Given the description of an element on the screen output the (x, y) to click on. 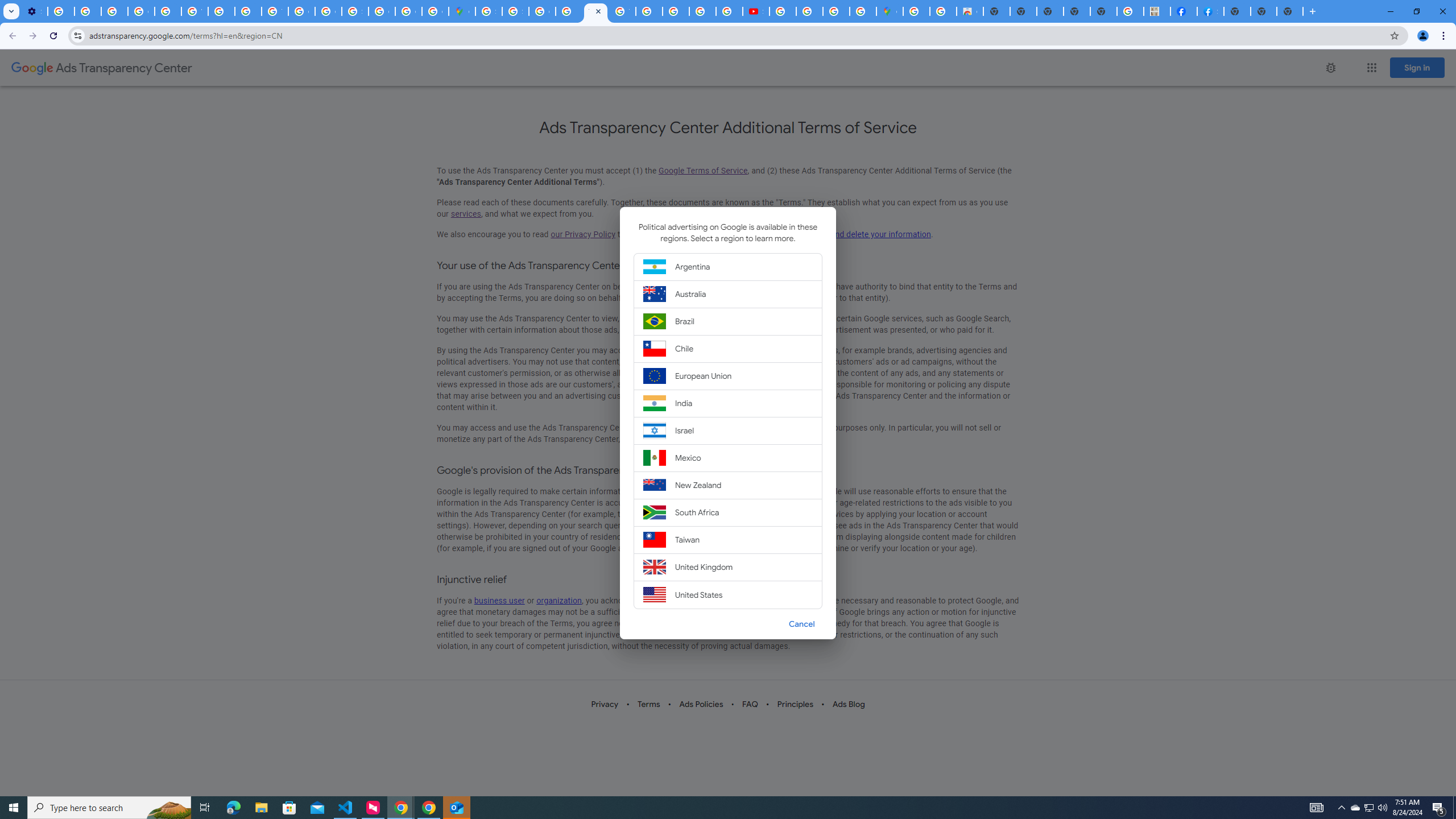
New Tab (1236, 11)
South Africa (727, 512)
Terms (649, 703)
Sign in - Google Accounts (355, 11)
Privacy Help Center - Policies Help (167, 11)
Israel (727, 430)
our Privacy Policy (582, 234)
Terms and Conditions (595, 11)
Sign in - Google Accounts (515, 11)
Google Terms of Service (703, 171)
